Given the description of an element on the screen output the (x, y) to click on. 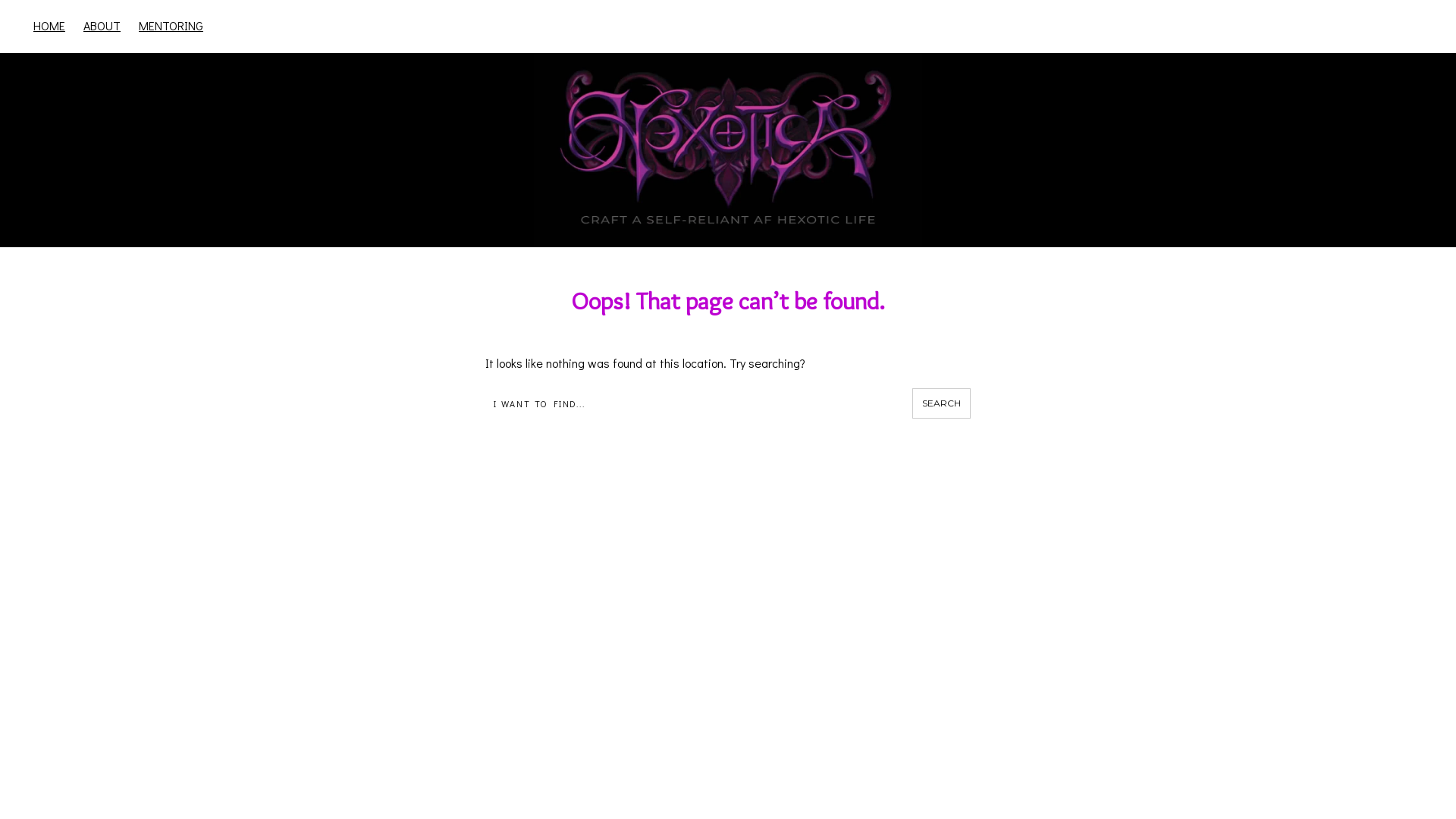
HOME Element type: text (49, 26)
ABOUT Element type: text (101, 26)
MENTORING Element type: text (170, 26)
HOME Element type: text (97, 150)
MENTORING Element type: text (219, 150)
ABOUT Element type: text (150, 150)
SEARCH Element type: text (941, 403)
